Given the description of an element on the screen output the (x, y) to click on. 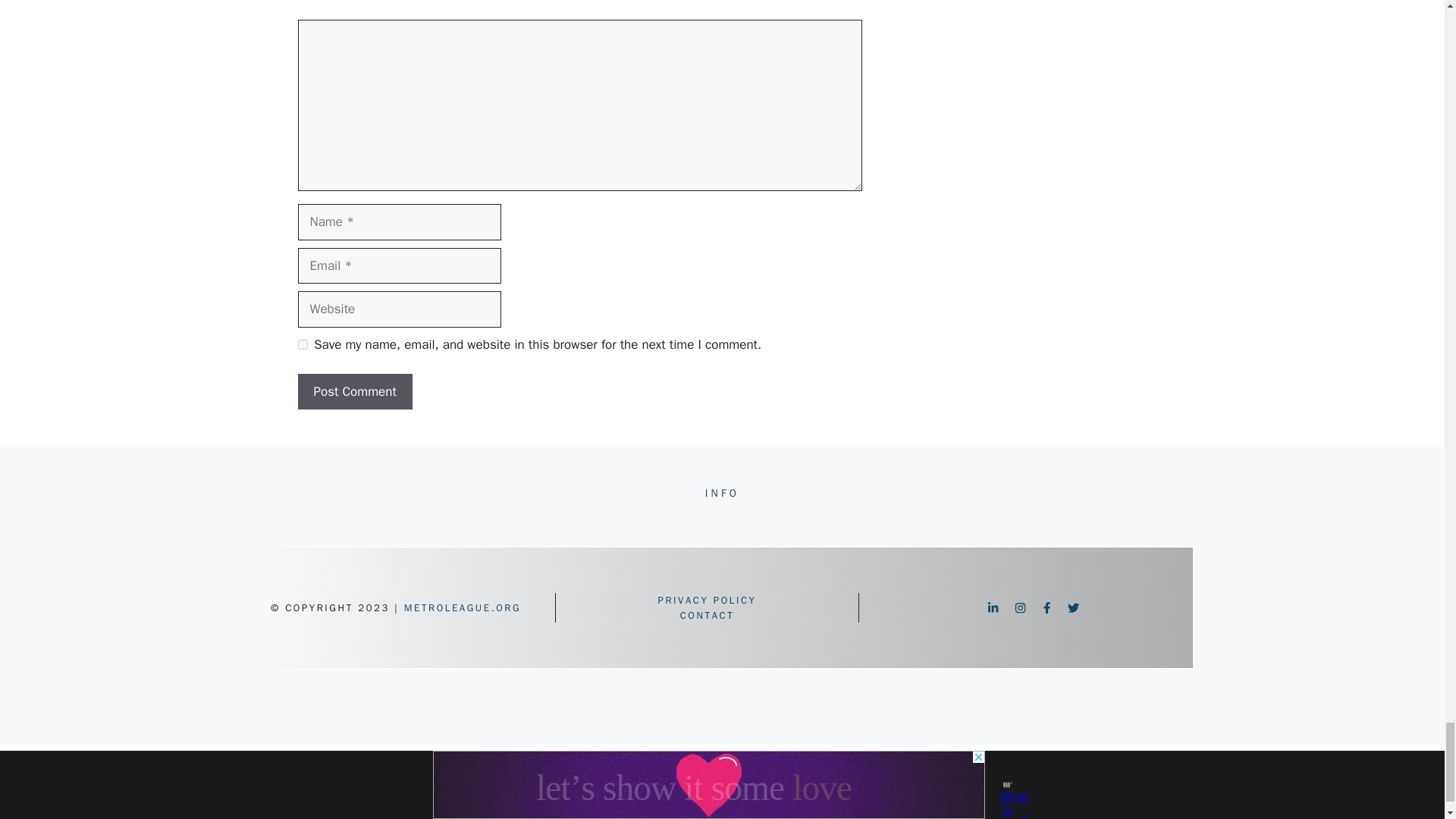
Post Comment (354, 391)
yes (302, 344)
Post Comment (354, 391)
